Given the description of an element on the screen output the (x, y) to click on. 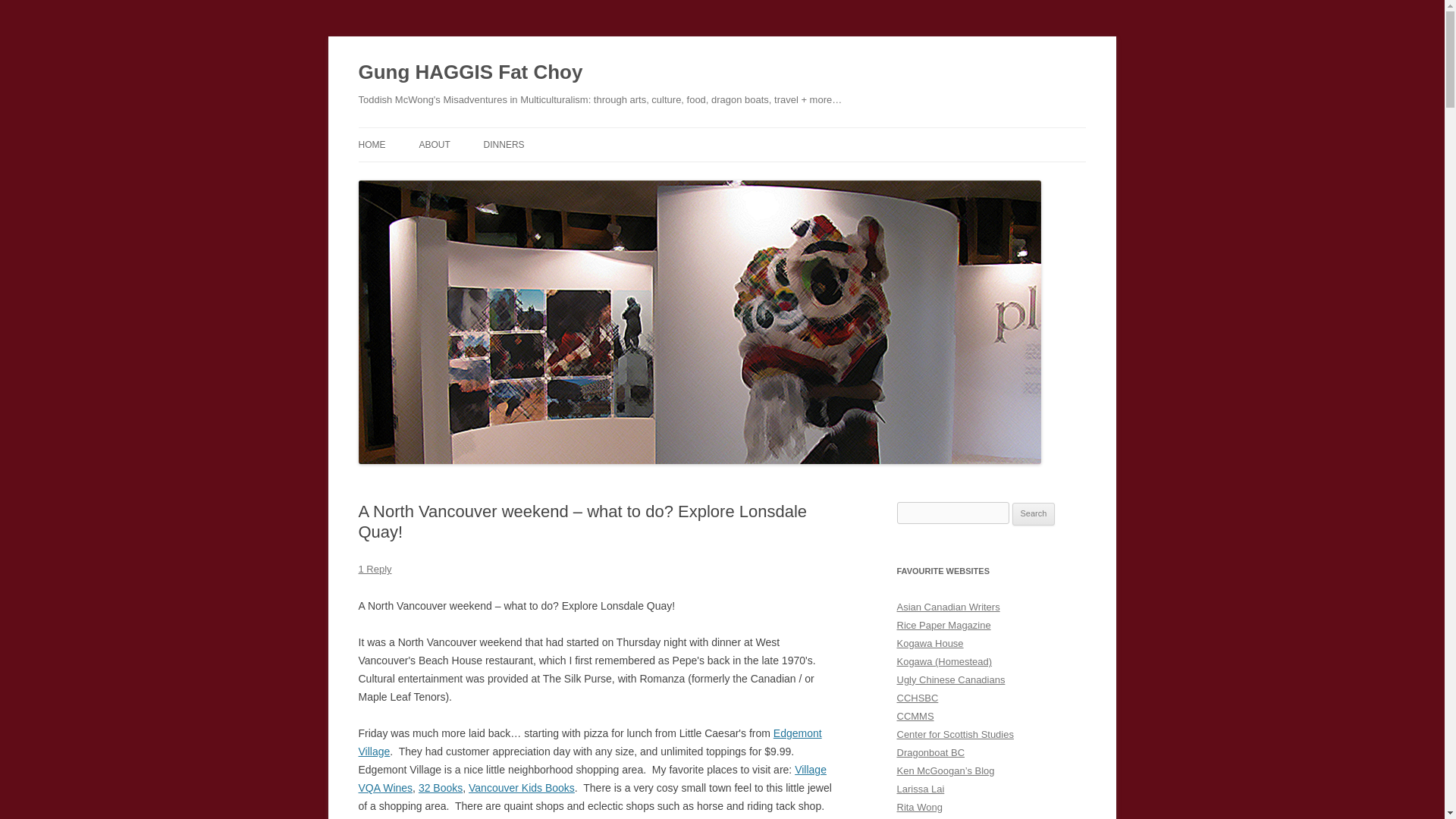
Center for Scottish Studies (954, 734)
Ugly Chinese Canadians (950, 679)
32 Books (441, 787)
Edgemont Village (589, 742)
ABOUT (434, 144)
Kogawa House (929, 643)
Rice Paper Magazine (943, 624)
Gung HAGGIS Fat Choy (470, 72)
